Given the description of an element on the screen output the (x, y) to click on. 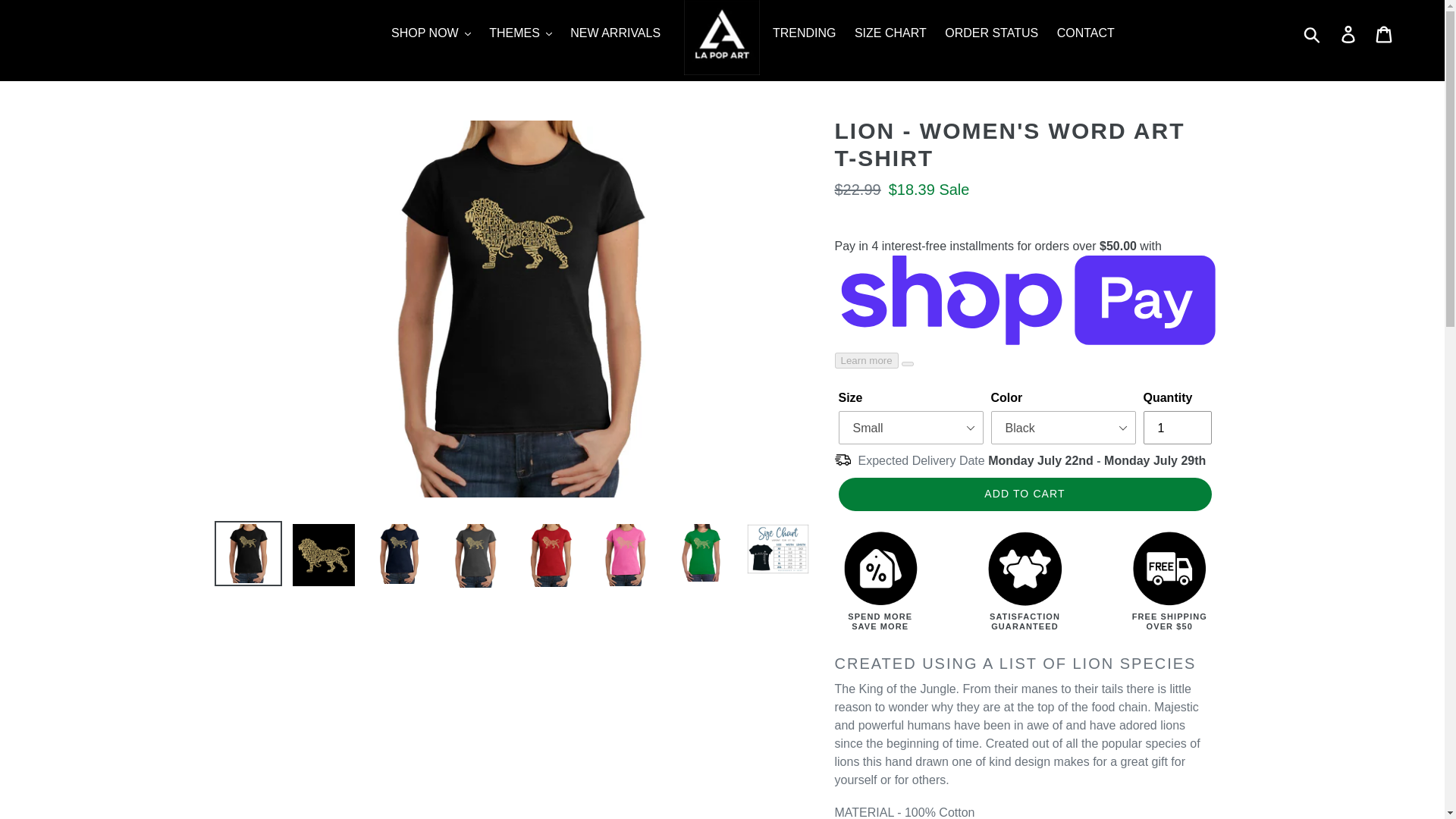
1 (1176, 427)
Submit (1313, 33)
Cart (1385, 33)
Log in (1349, 33)
